Given the description of an element on the screen output the (x, y) to click on. 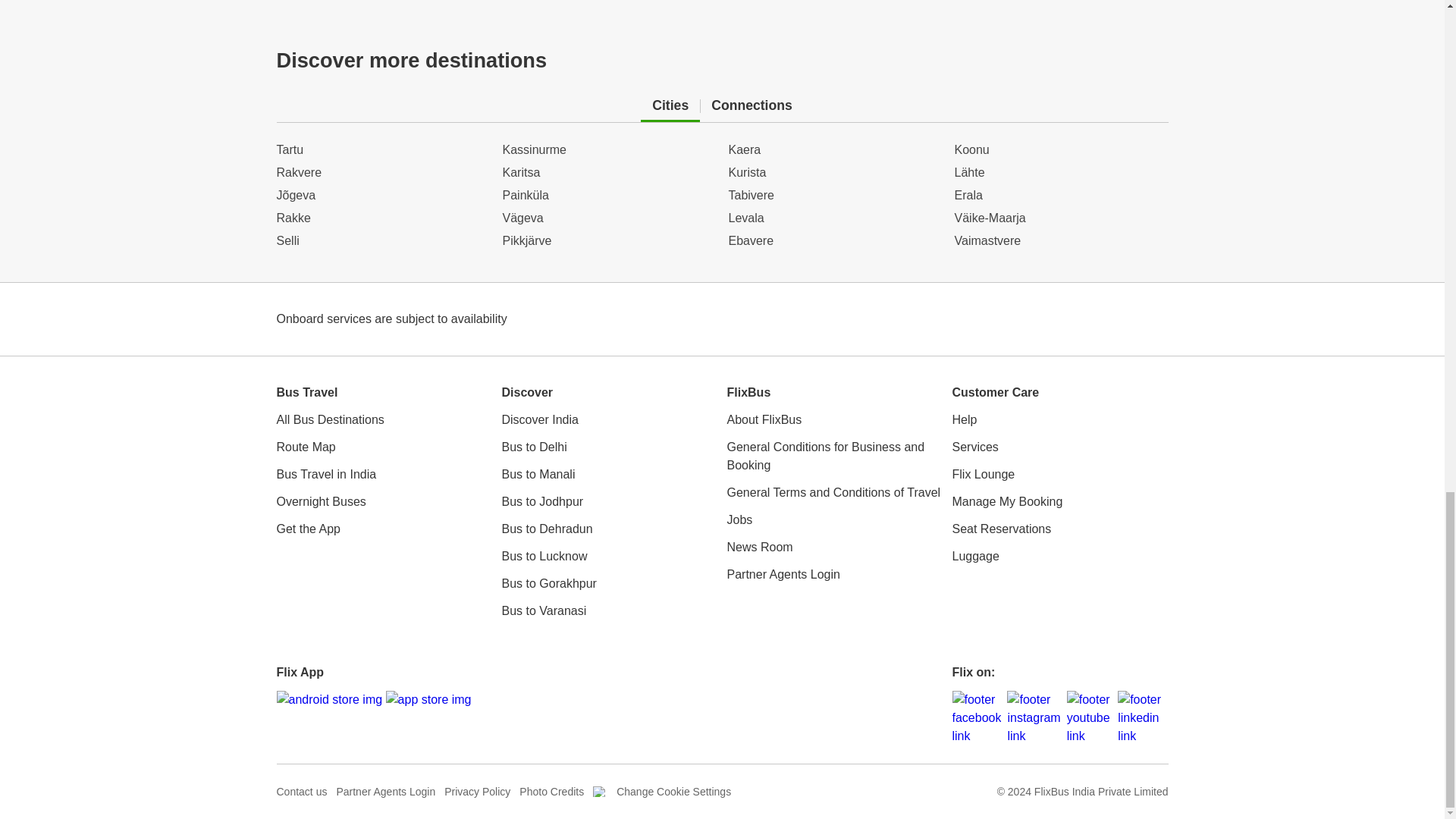
Kurista (835, 240)
Ebavere (835, 149)
Connections (751, 105)
Kassinurme (609, 172)
Karitsa (609, 149)
Aburi (1060, 195)
Mullavere (1060, 172)
Puhtaleiva (1060, 240)
Kaera (835, 172)
Erala (1060, 218)
